Given the description of an element on the screen output the (x, y) to click on. 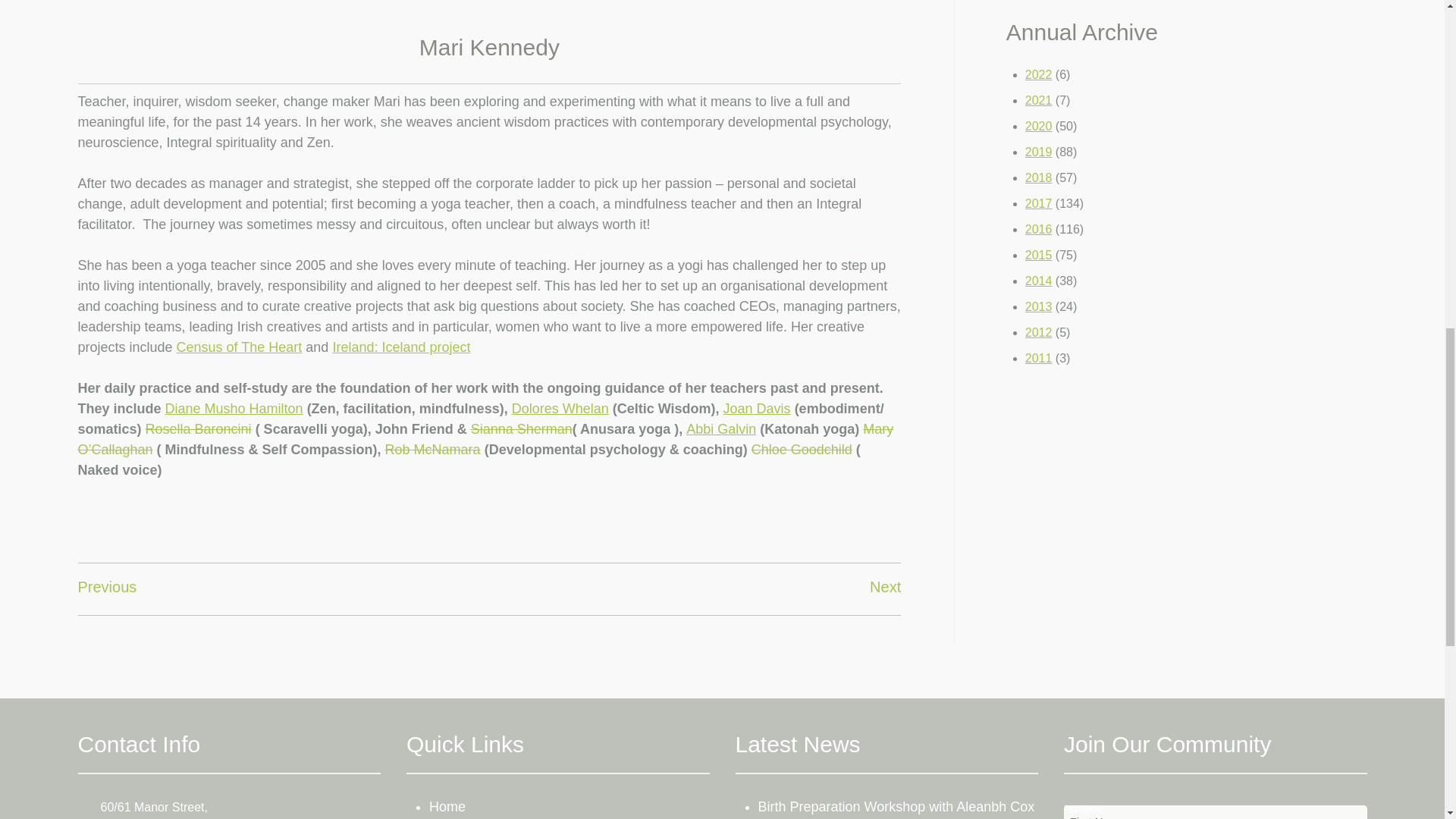
Rob McNamara (432, 449)
Sianna Sherman (521, 428)
Diane Musho Hamilton (233, 408)
Joan Davis (756, 408)
Abbi Galvin (720, 428)
Dolores Whelan (560, 408)
Ireland: Iceland project (400, 346)
Census of The Heart (239, 346)
Rosella Baroncini (198, 428)
Previous (106, 586)
